Given the description of an element on the screen output the (x, y) to click on. 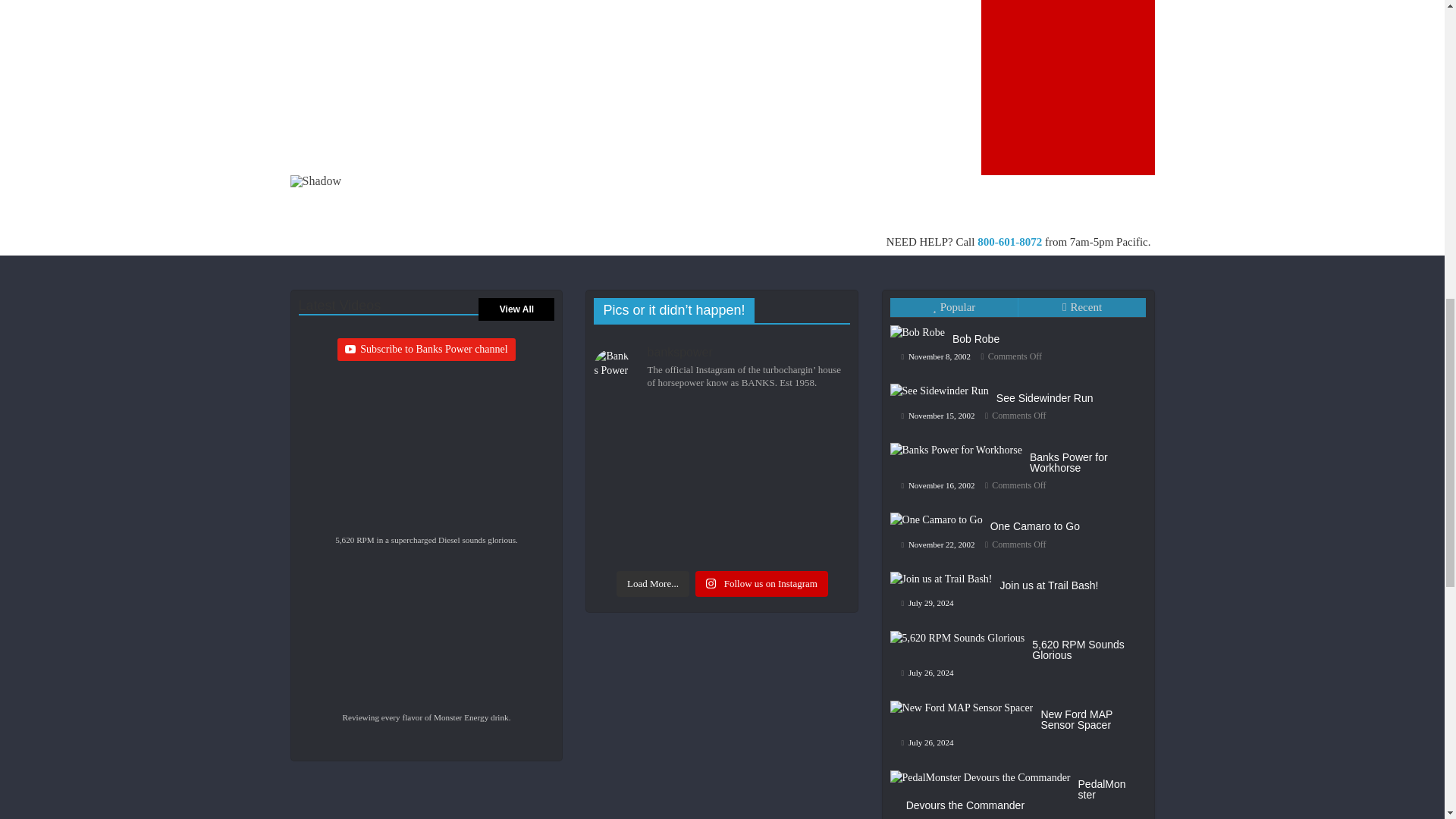
Bob Robe (942, 376)
12:00 am (1030, 407)
Bob Robe (1019, 390)
Bob Robe (938, 410)
